Given the description of an element on the screen output the (x, y) to click on. 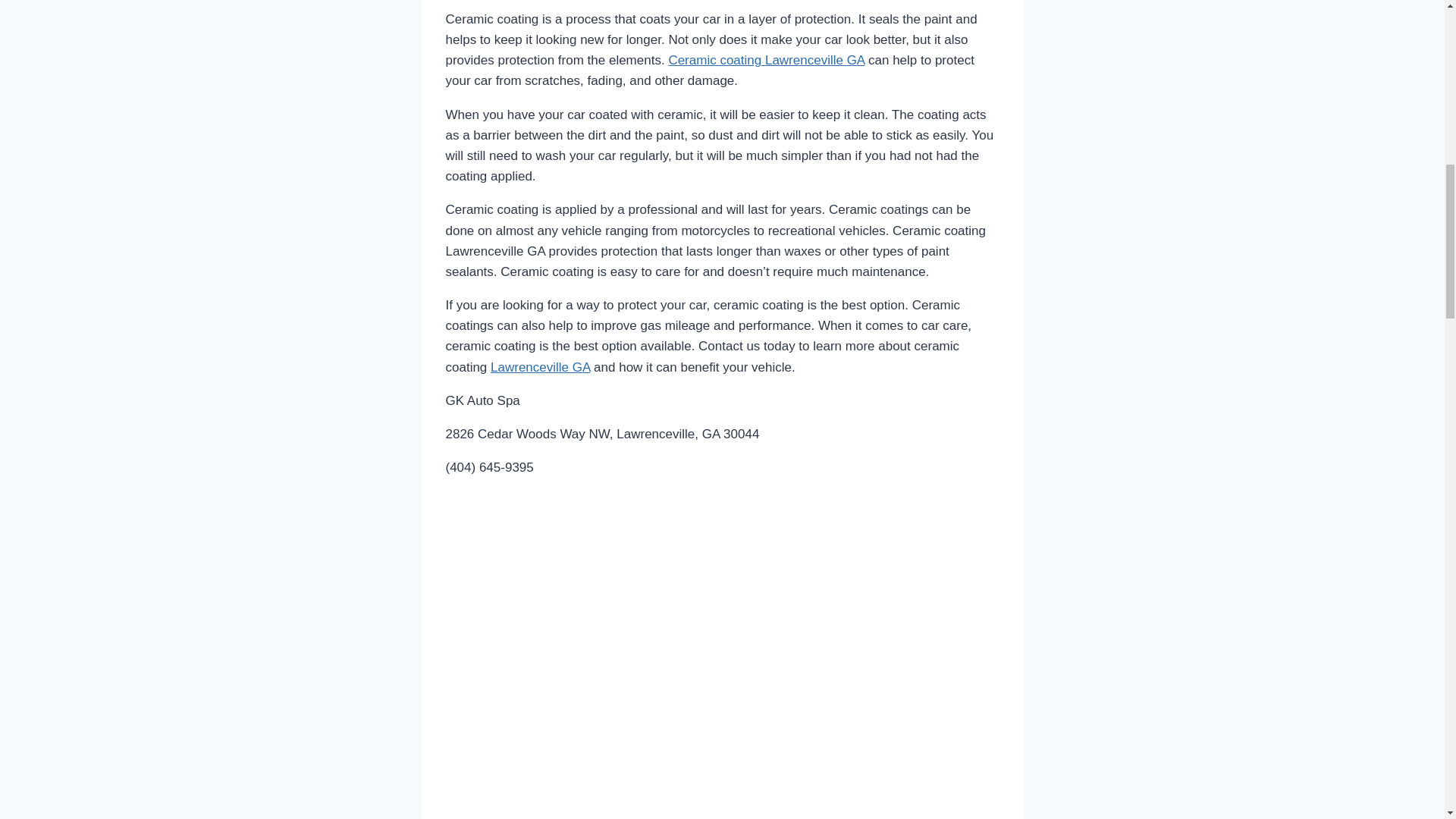
Lawrenceville GA (539, 367)
Ceramic coating Lawrenceville GA (766, 60)
